Given the description of an element on the screen output the (x, y) to click on. 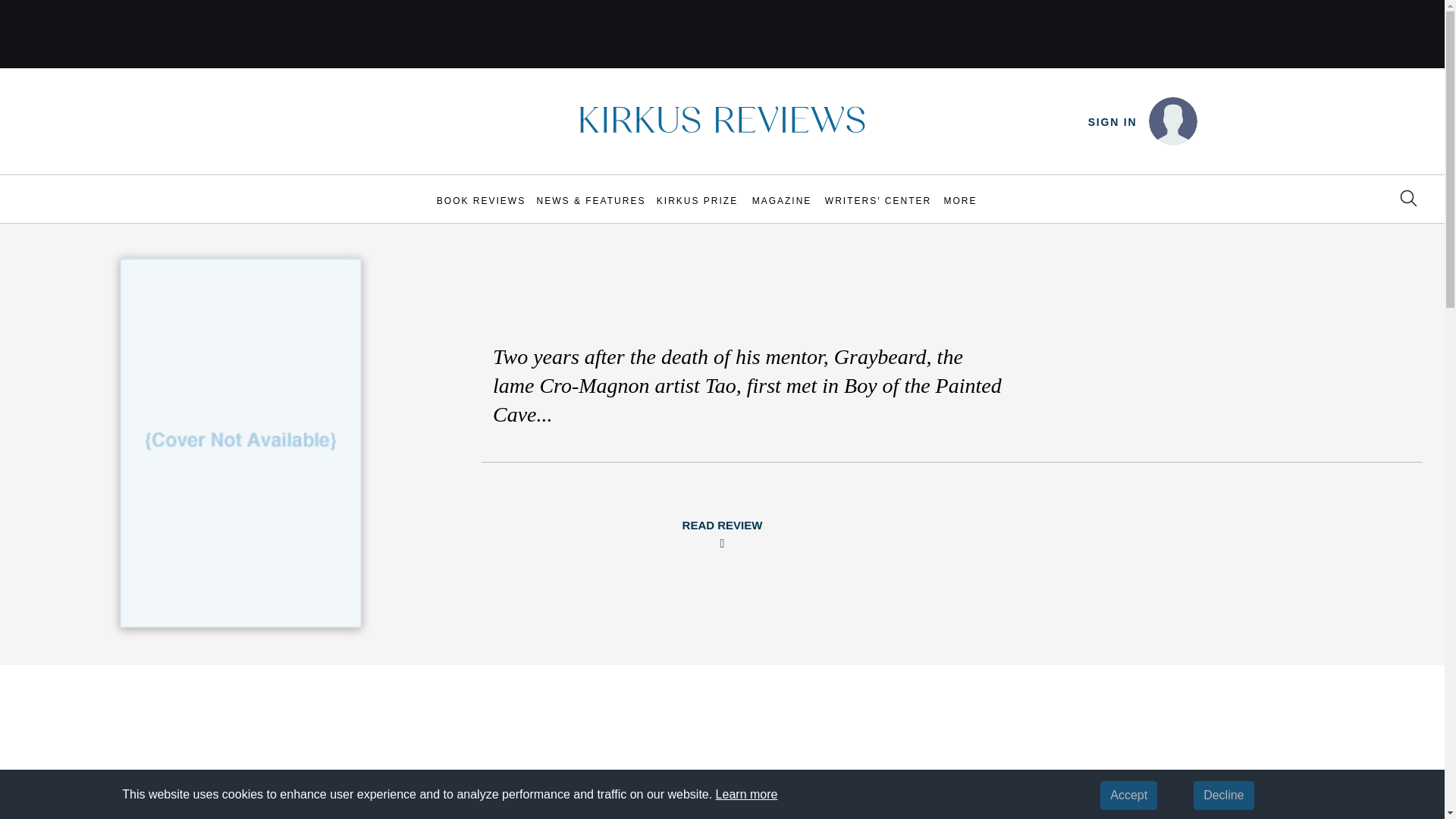
BOOK REVIEWS (480, 201)
3rd party ad content (722, 33)
SIGN IN (1111, 122)
